Given the description of an element on the screen output the (x, y) to click on. 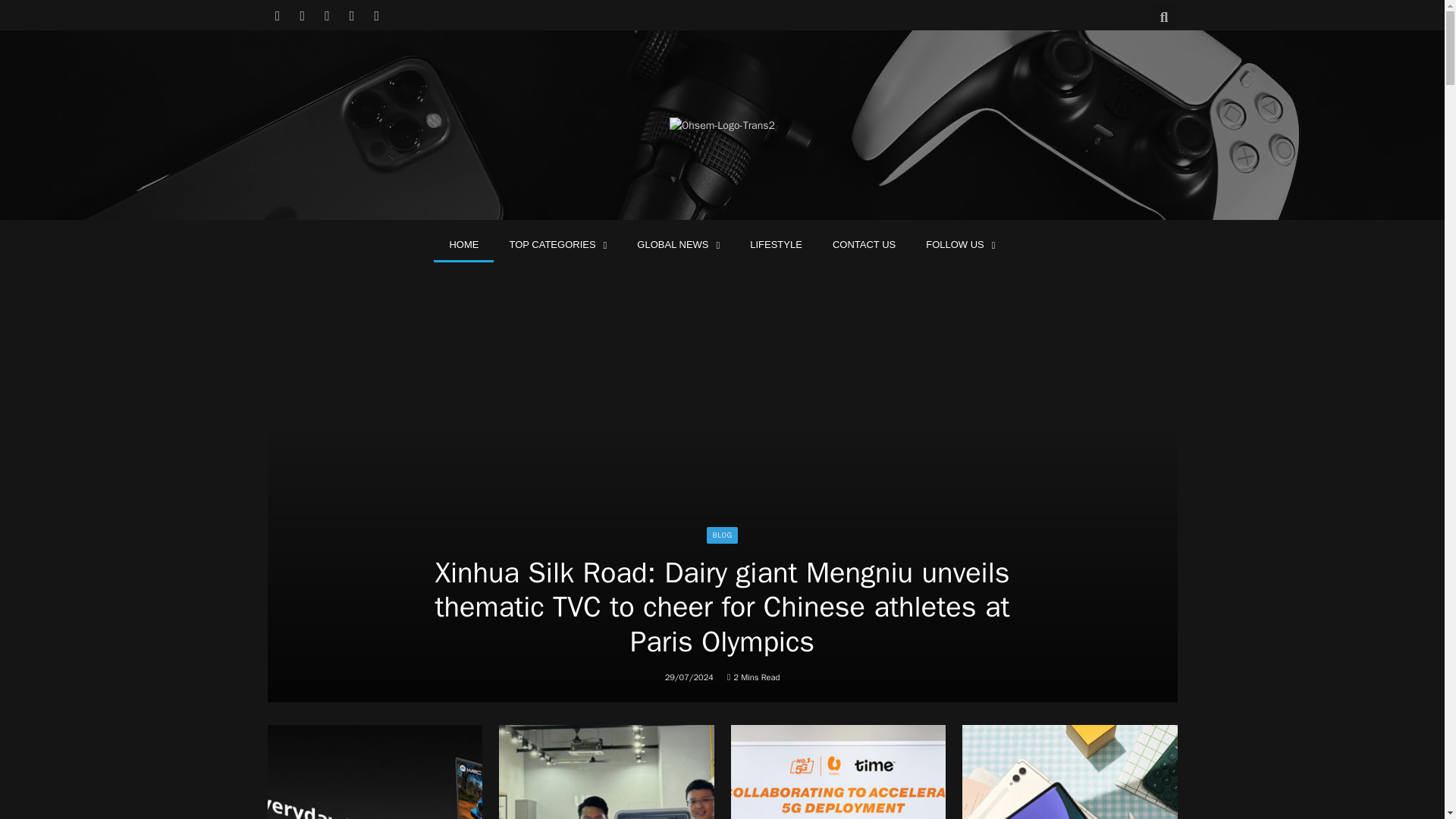
Facebook (277, 15)
Ohsem-Logo-Trans2 (721, 125)
LIFESTYLE (775, 244)
AOC B Series Monitors Deliver Next-Level Home Entertainment (373, 771)
TOP CATEGORIES (557, 244)
LinkedIn (351, 15)
HOME (463, 244)
TikTok (376, 15)
Galaxy Tablets: Transform Playtime into Learning (1069, 771)
CONTACT US (863, 244)
Instagram (327, 15)
U Mobile and Time Wholesale Join Forces for 5G Expansion (838, 771)
FOLLOW US (960, 244)
GLOBAL NEWS (678, 244)
